Given the description of an element on the screen output the (x, y) to click on. 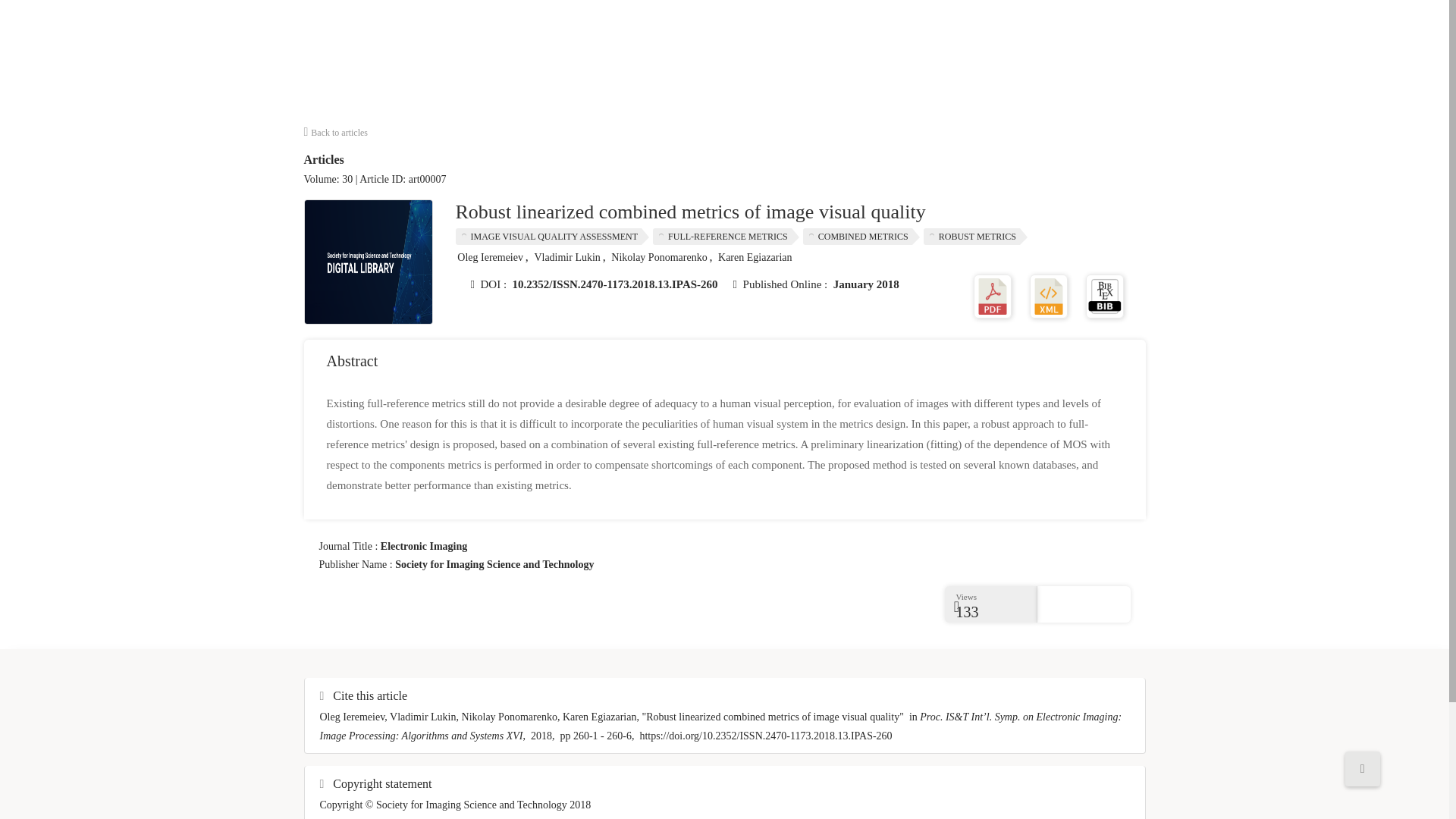
No article cover image (368, 261)
Download XML (1048, 295)
Download PDF (992, 295)
COMBINED METRICS (861, 236)
Download BibTeX (1105, 295)
IMAGE VISUAL QUALITY ASSESSMENT (551, 236)
ROBUST METRICS (975, 236)
FULL-REFERENCE METRICS (725, 236)
